Given the description of an element on the screen output the (x, y) to click on. 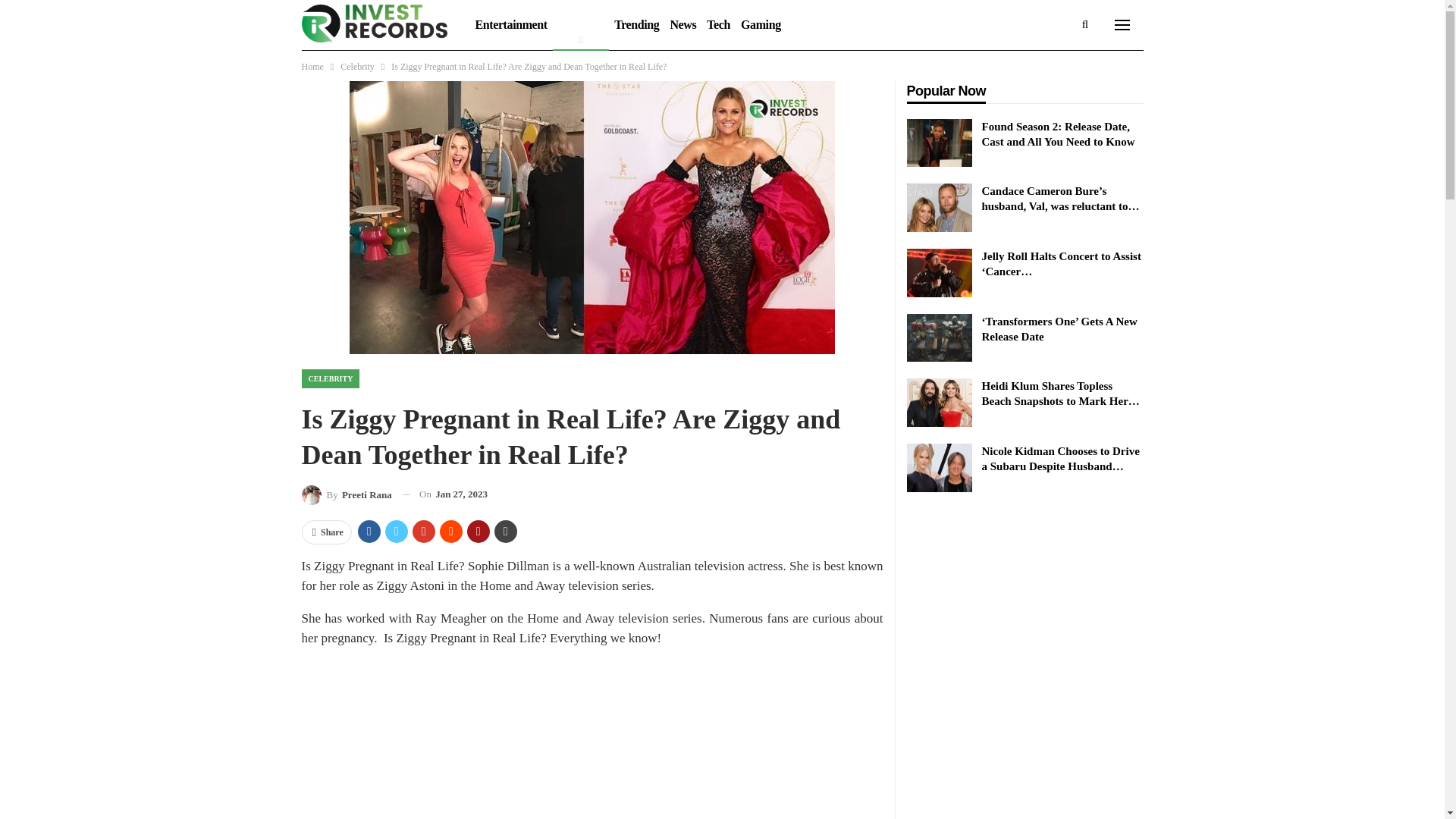
Celebrity (357, 66)
Trending (635, 24)
Gaming (760, 24)
Home (312, 66)
Entertainment (511, 24)
Advertisement (592, 739)
By Preeti Rana (346, 494)
Celebrity (580, 24)
CELEBRITY (330, 378)
Browse Author Articles (346, 494)
